Given the description of an element on the screen output the (x, y) to click on. 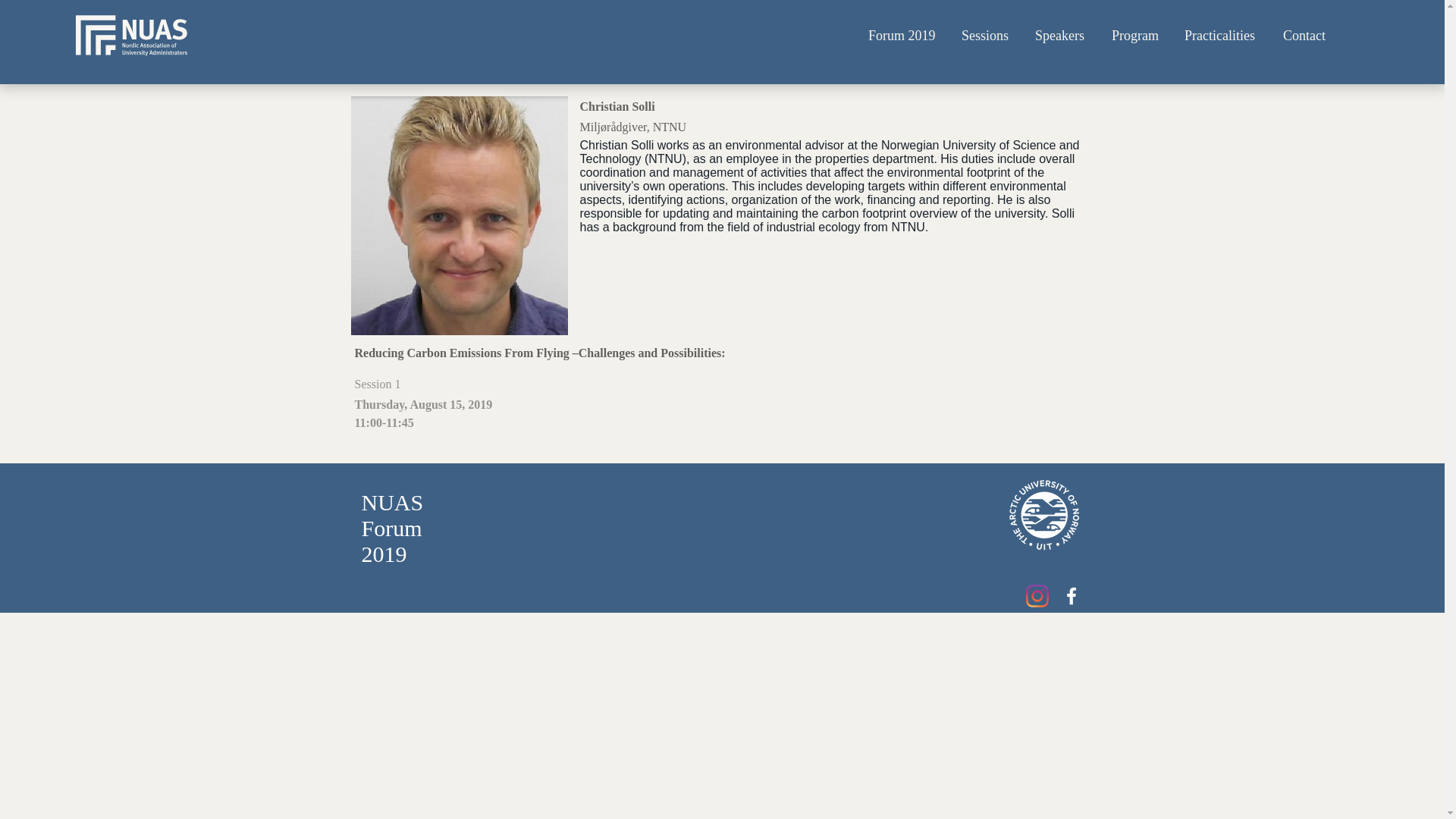
Program (1136, 35)
Practicalities (1222, 35)
Contact (1305, 35)
Speakers (1061, 35)
Sessions (986, 35)
Solli1.PNG (458, 215)
Forum 2019 (903, 35)
